Given the description of an element on the screen output the (x, y) to click on. 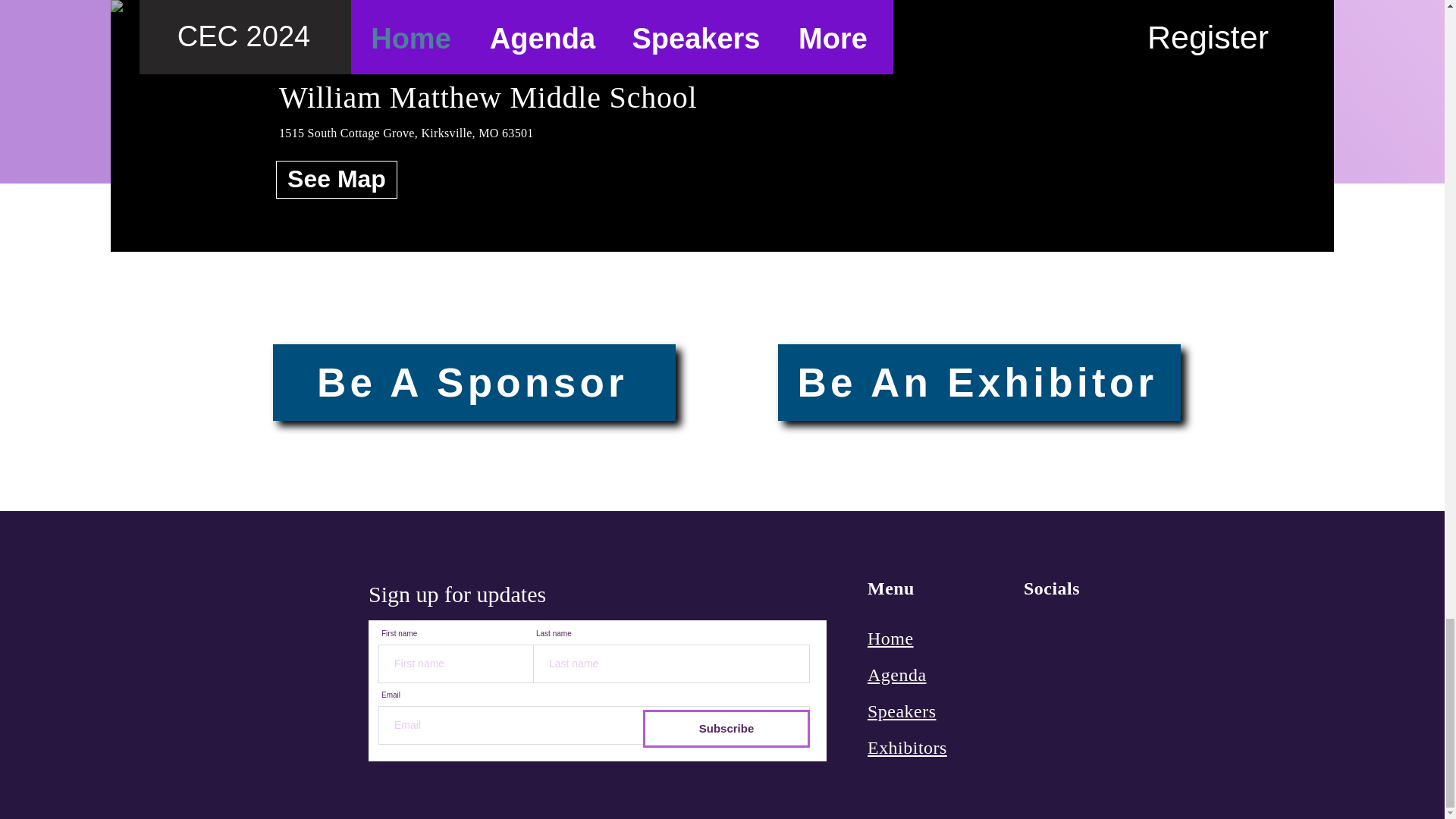
See Map (336, 179)
Be An Exhibitor (978, 381)
Exhibitors (907, 747)
Subscribe (726, 728)
Agenda (896, 674)
Speakers (901, 711)
Be A Sponsor (474, 381)
Home (890, 638)
